Given the description of an element on the screen output the (x, y) to click on. 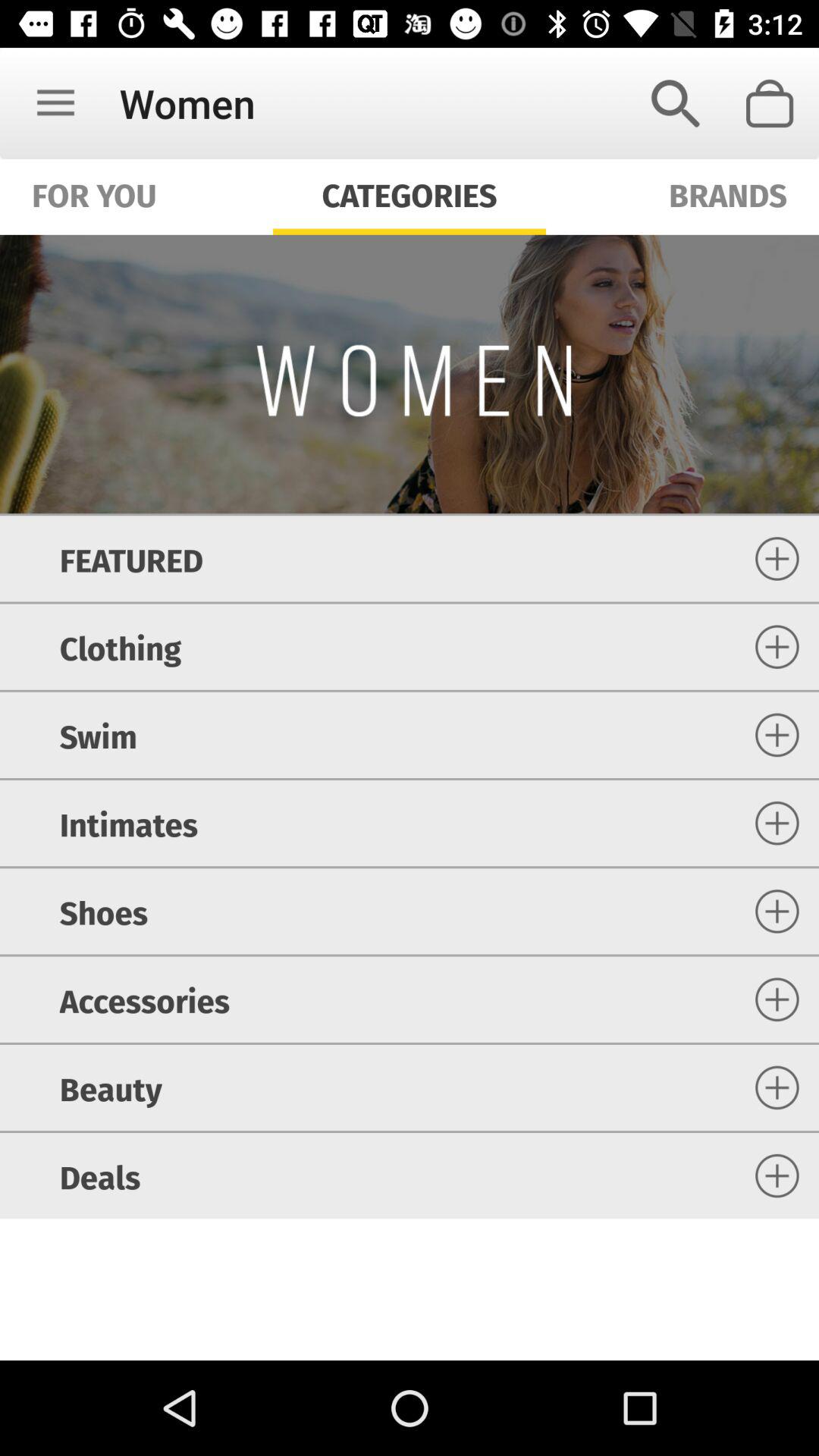
turn on item below the featured item (120, 646)
